Given the description of an element on the screen output the (x, y) to click on. 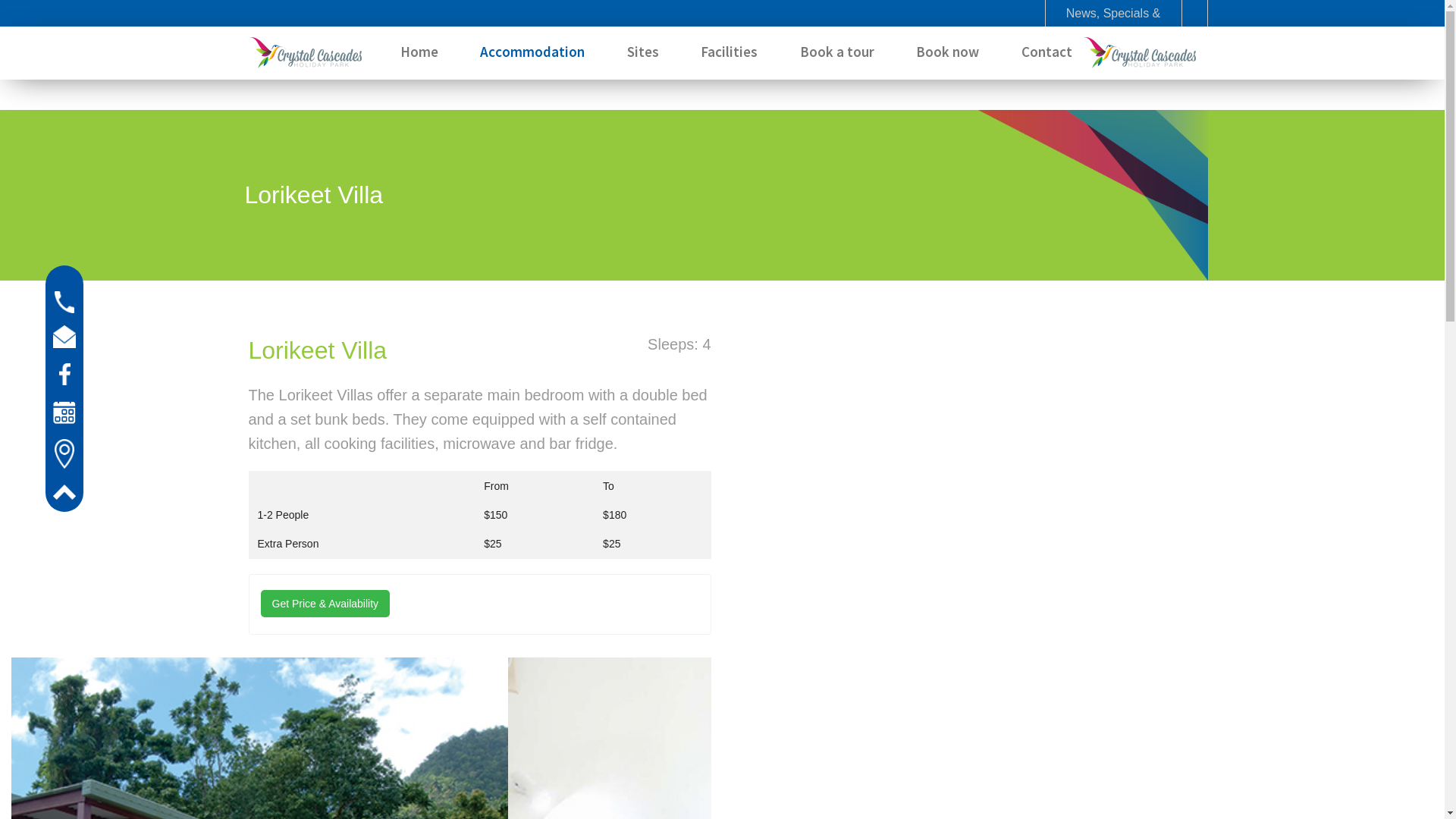
Get Price & Availability Element type: text (325, 603)
Book now Element type: text (947, 51)
Home Element type: text (419, 51)
Book a tour Element type: text (837, 51)
Sites Element type: text (642, 51)
Accommodation Element type: text (532, 51)
Contact Element type: text (1046, 51)
News, Specials & Events Element type: text (1113, 22)
Facilities Element type: text (728, 51)
